Given the description of an element on the screen output the (x, y) to click on. 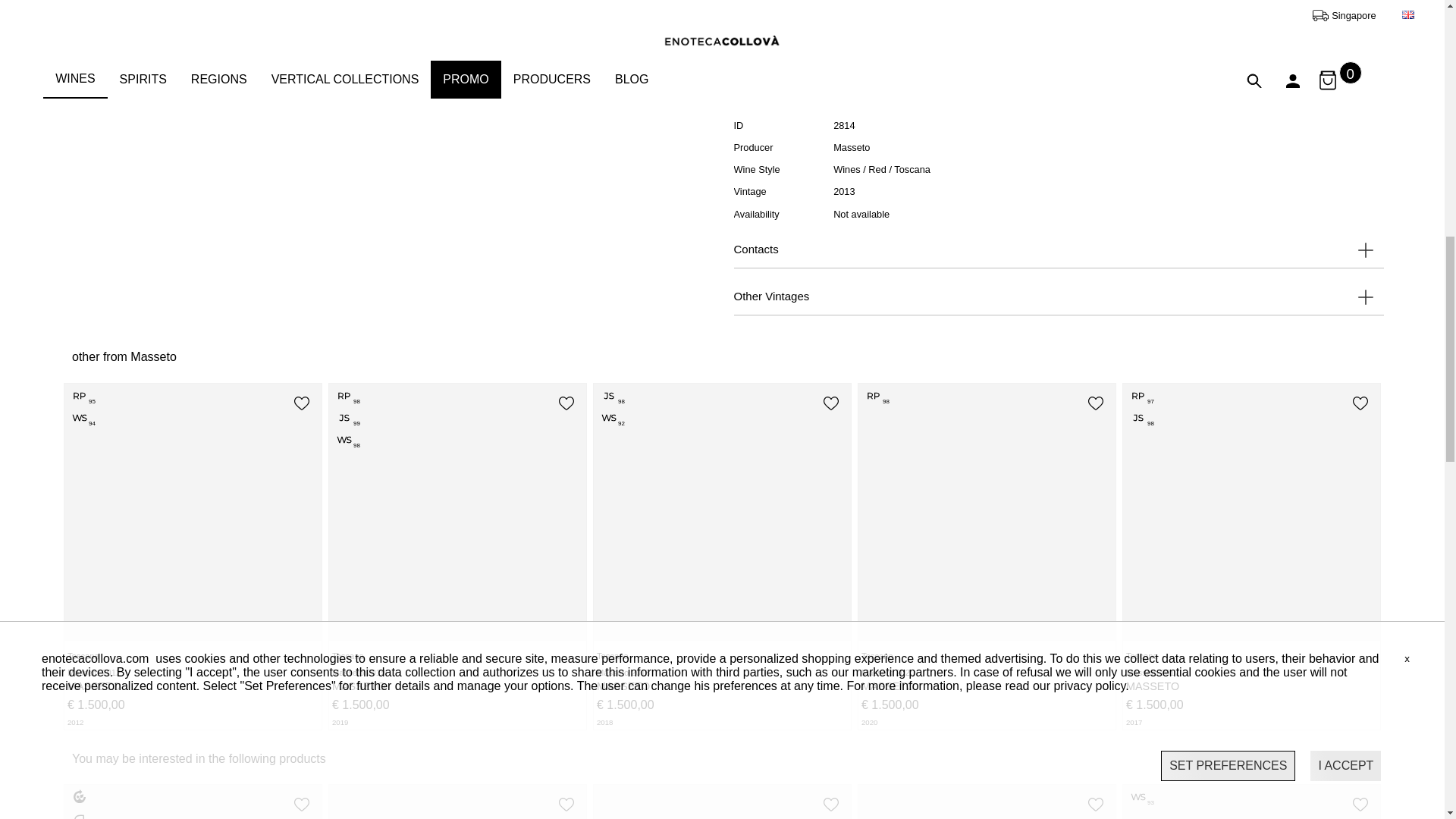
Robert Parker (346, 396)
Robert Parker (876, 396)
Wine Spectator (346, 440)
Robert Parker (1140, 396)
James Suckling (611, 396)
Wine Spectator (81, 418)
Robert Parker (81, 396)
Wine Spectator (611, 418)
James Suckling (1140, 418)
James Suckling (346, 418)
